Given the description of an element on the screen output the (x, y) to click on. 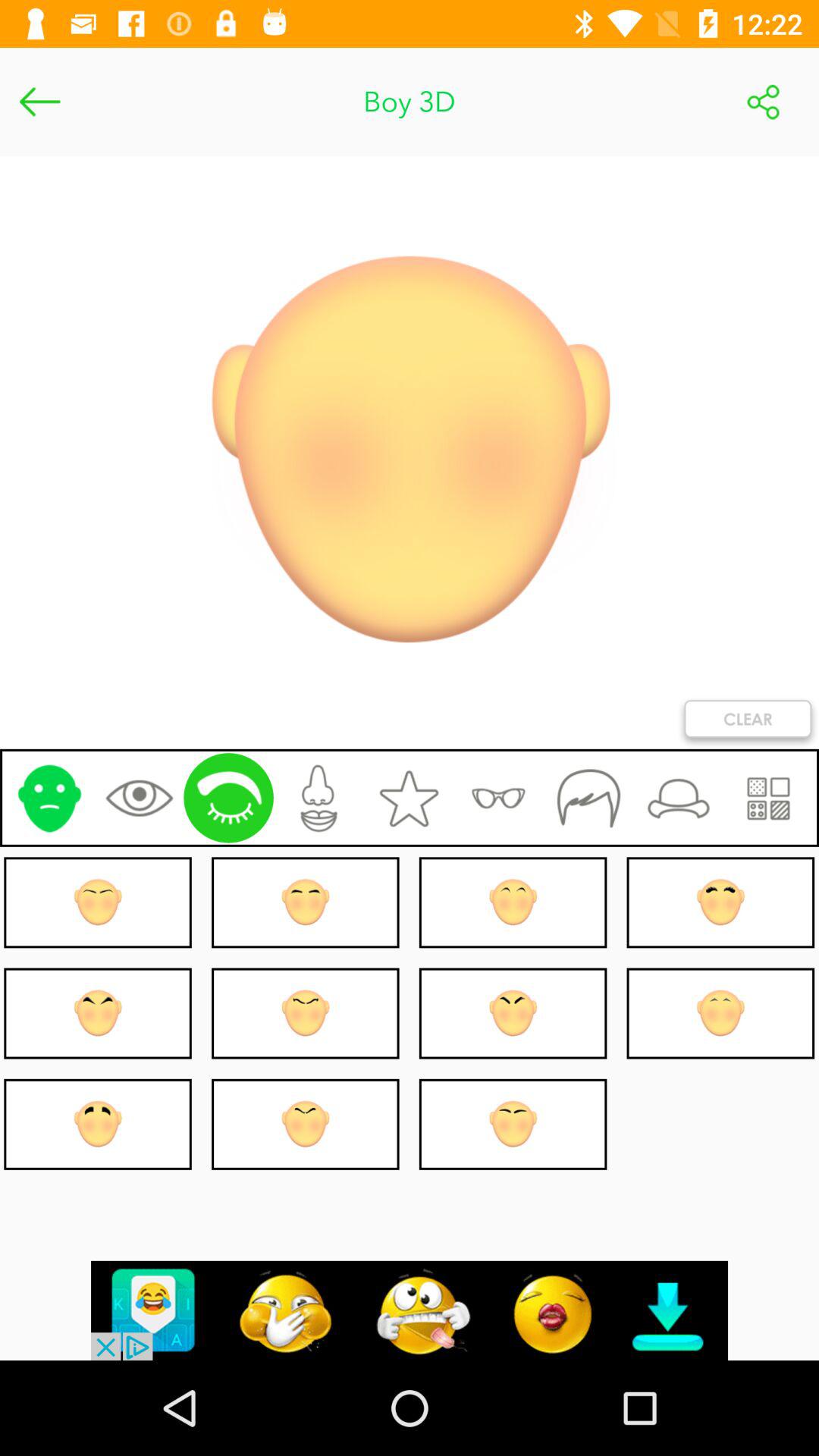
go to advertisement page (409, 1310)
